Given the description of an element on the screen output the (x, y) to click on. 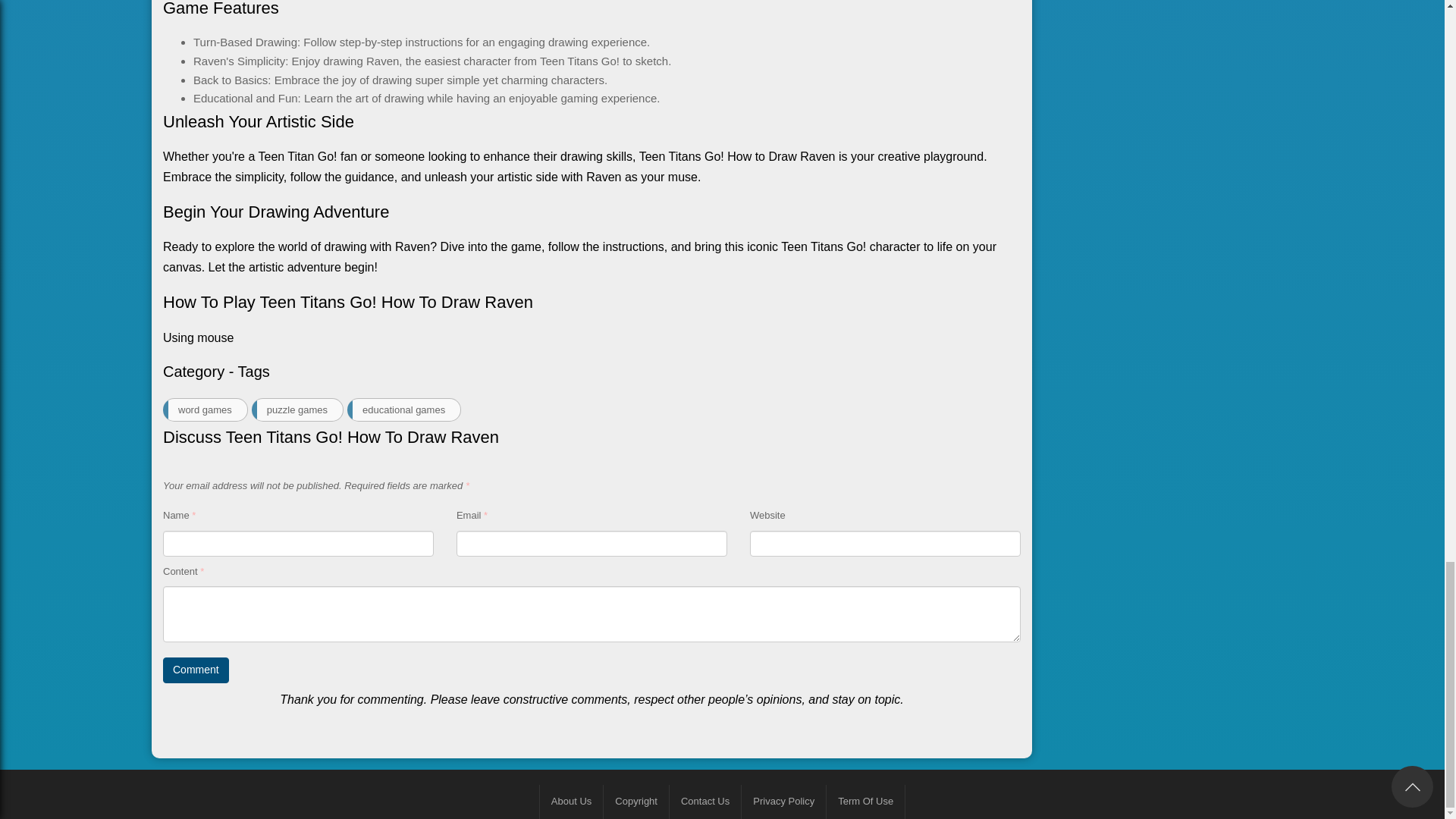
Comment (195, 670)
puzzle games (297, 409)
Comment (195, 670)
word games (205, 409)
educational games (404, 409)
